Given the description of an element on the screen output the (x, y) to click on. 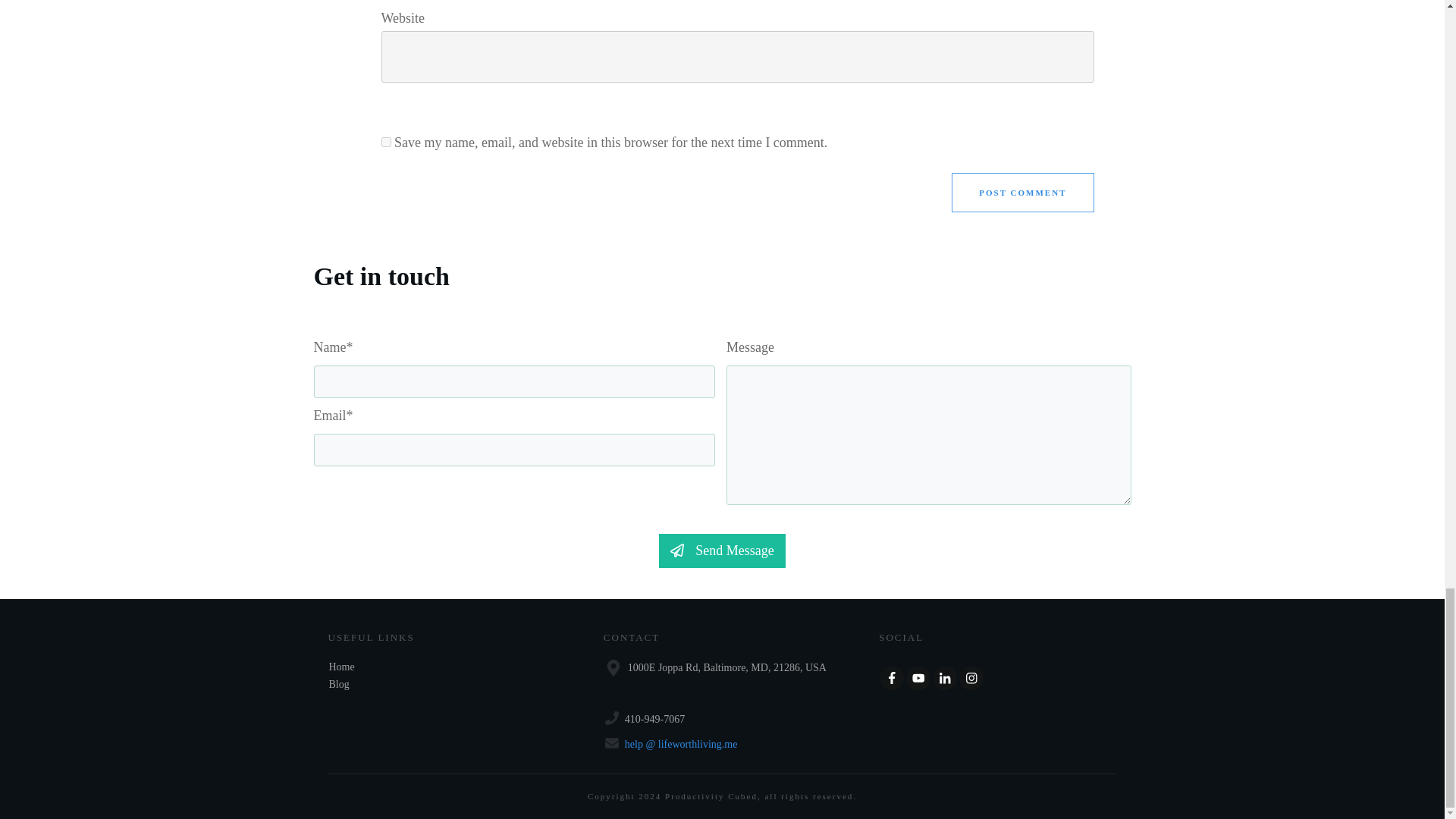
yes (385, 142)
Send Message (721, 550)
Home (342, 666)
Blog (339, 684)
POST COMMENT (1022, 192)
